Given the description of an element on the screen output the (x, y) to click on. 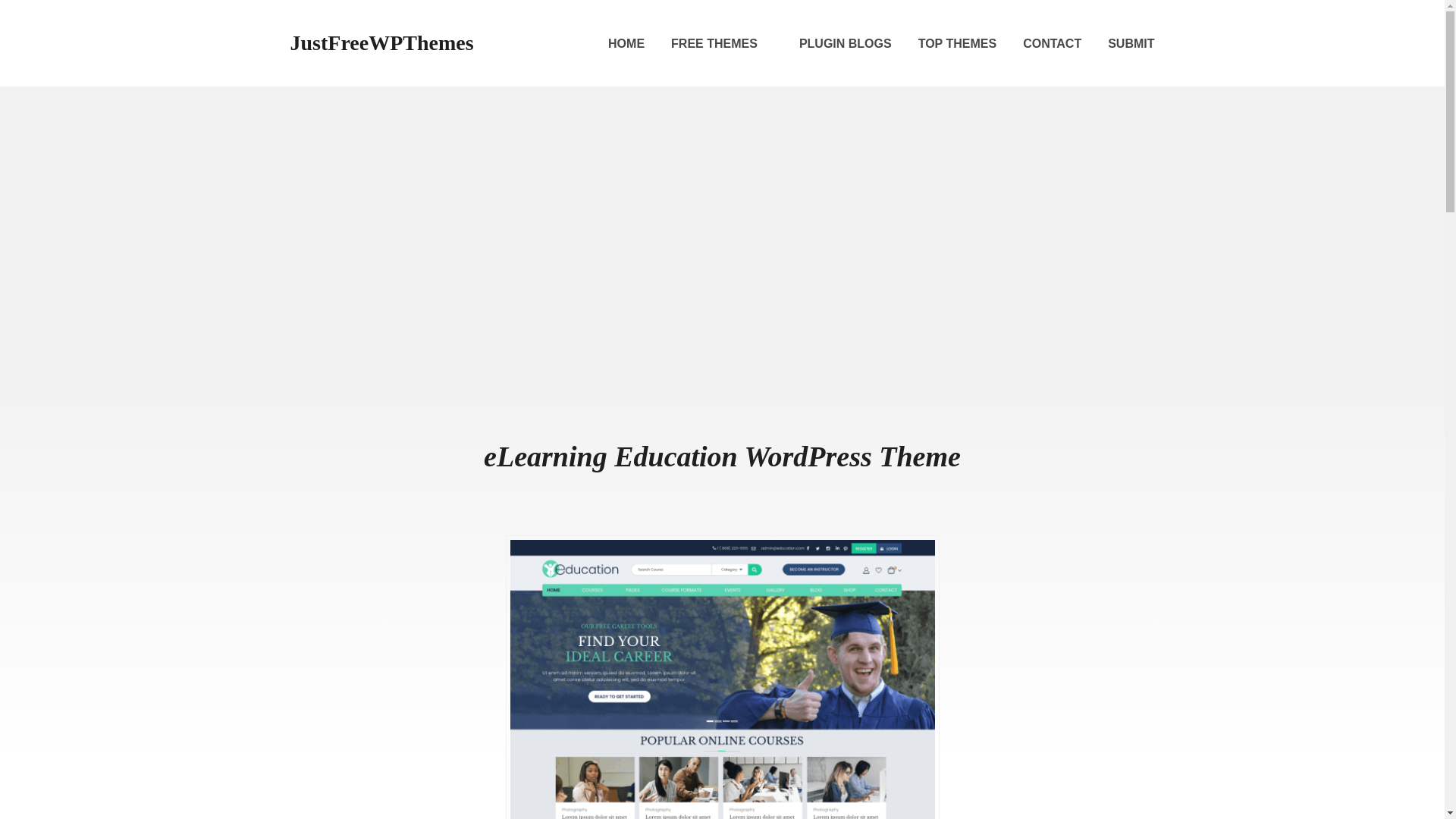
TOP THEMES (956, 44)
CONTACT (1052, 44)
HOME (626, 44)
JustFreeWPThemes (381, 42)
PLUGIN BLOGS (845, 44)
FREE THEMES (722, 44)
SUBMIT (1131, 44)
